Given the description of an element on the screen output the (x, y) to click on. 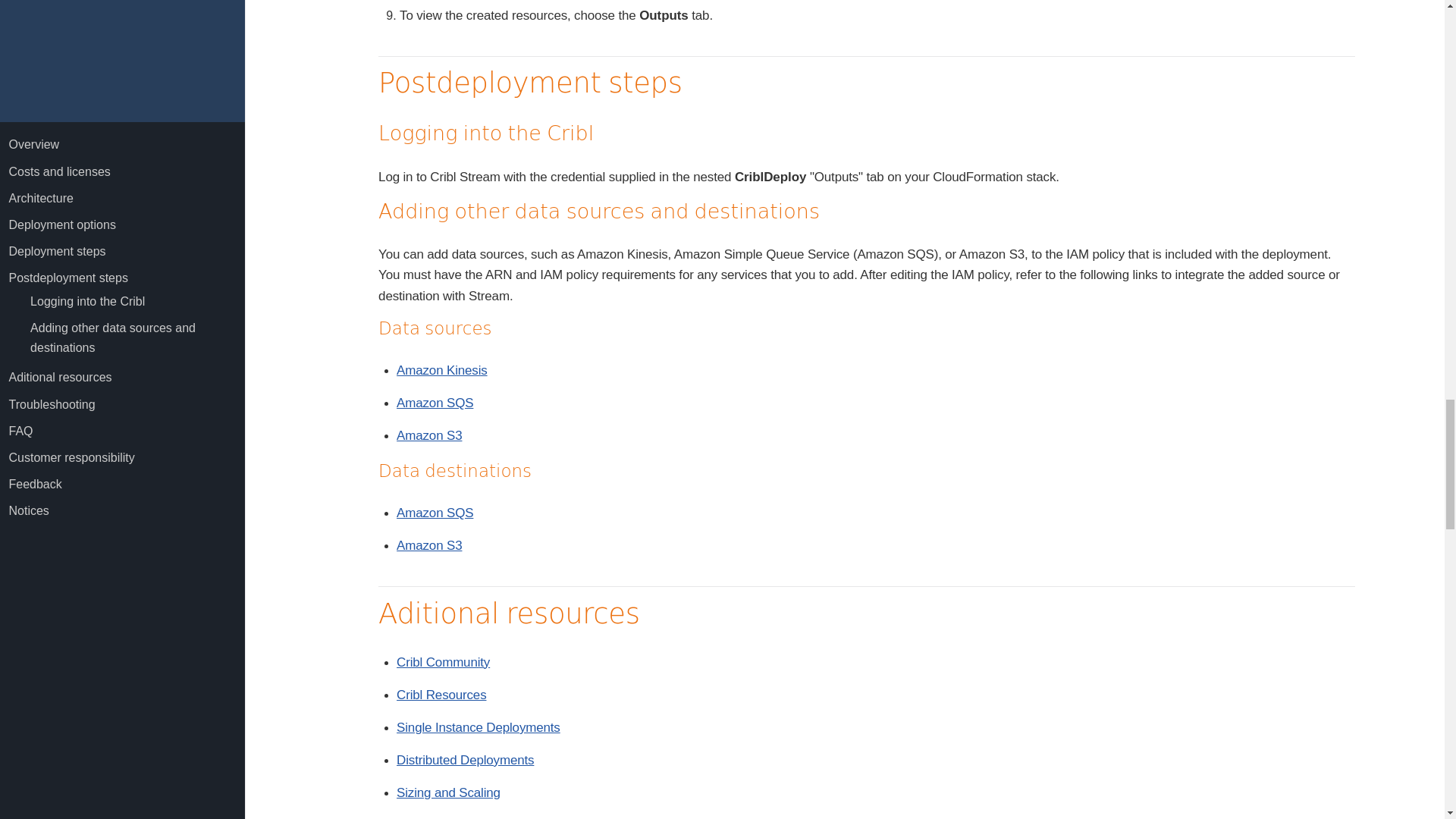
Cribl Resources (441, 694)
Cribl Community (442, 662)
Single Instance Deployments (478, 727)
Amazon S3 (428, 435)
Amazon SQS (434, 513)
Amazon S3 (428, 545)
Amazon Kinesis (441, 370)
Amazon SQS (434, 402)
